Given the description of an element on the screen output the (x, y) to click on. 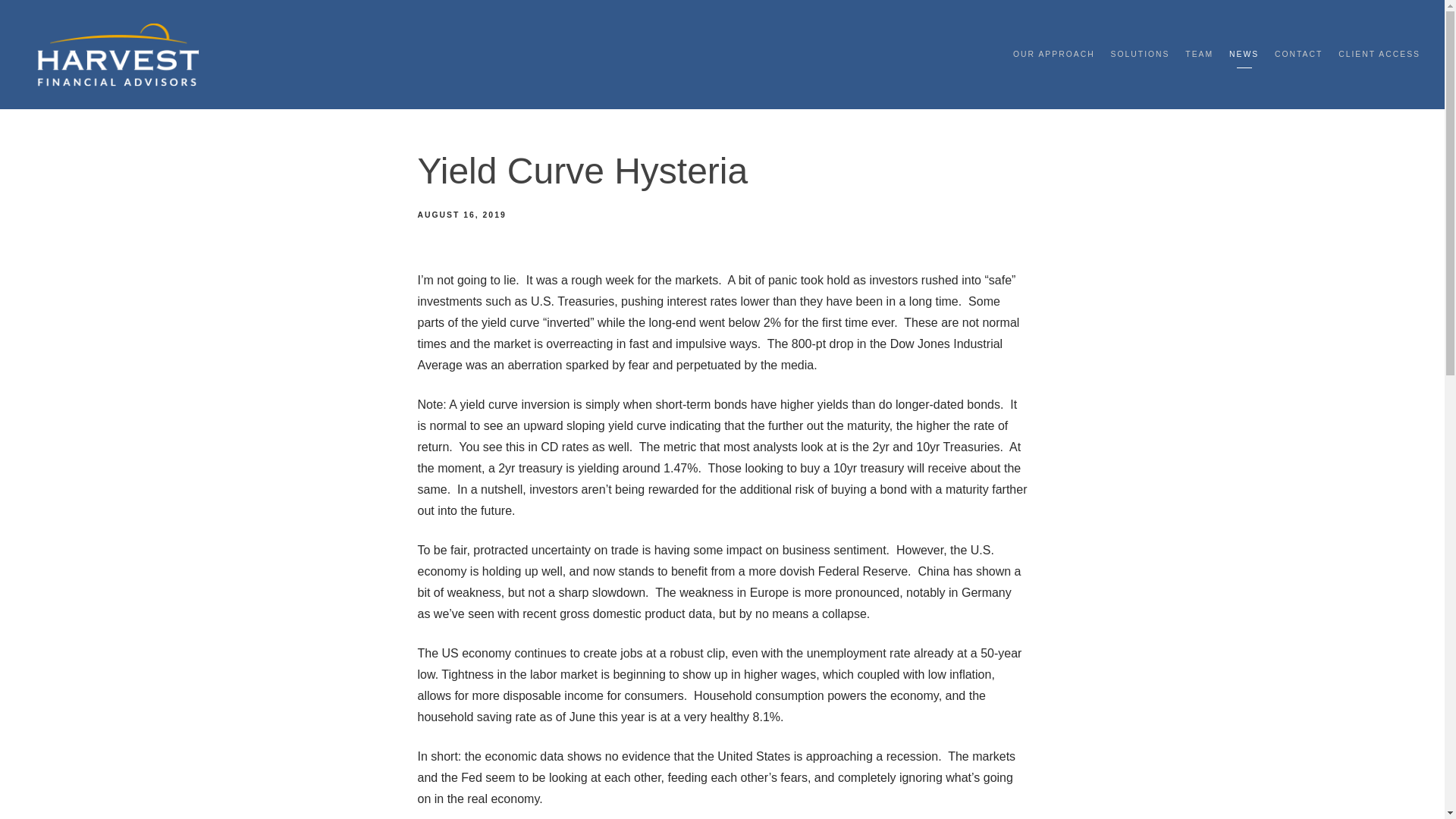
SOLUTIONS (1139, 55)
NEWS (1243, 55)
CLIENT ACCESS (1379, 55)
TEAM (1198, 55)
OUR APPROACH (1053, 55)
CONTACT (1298, 55)
